Given the description of an element on the screen output the (x, y) to click on. 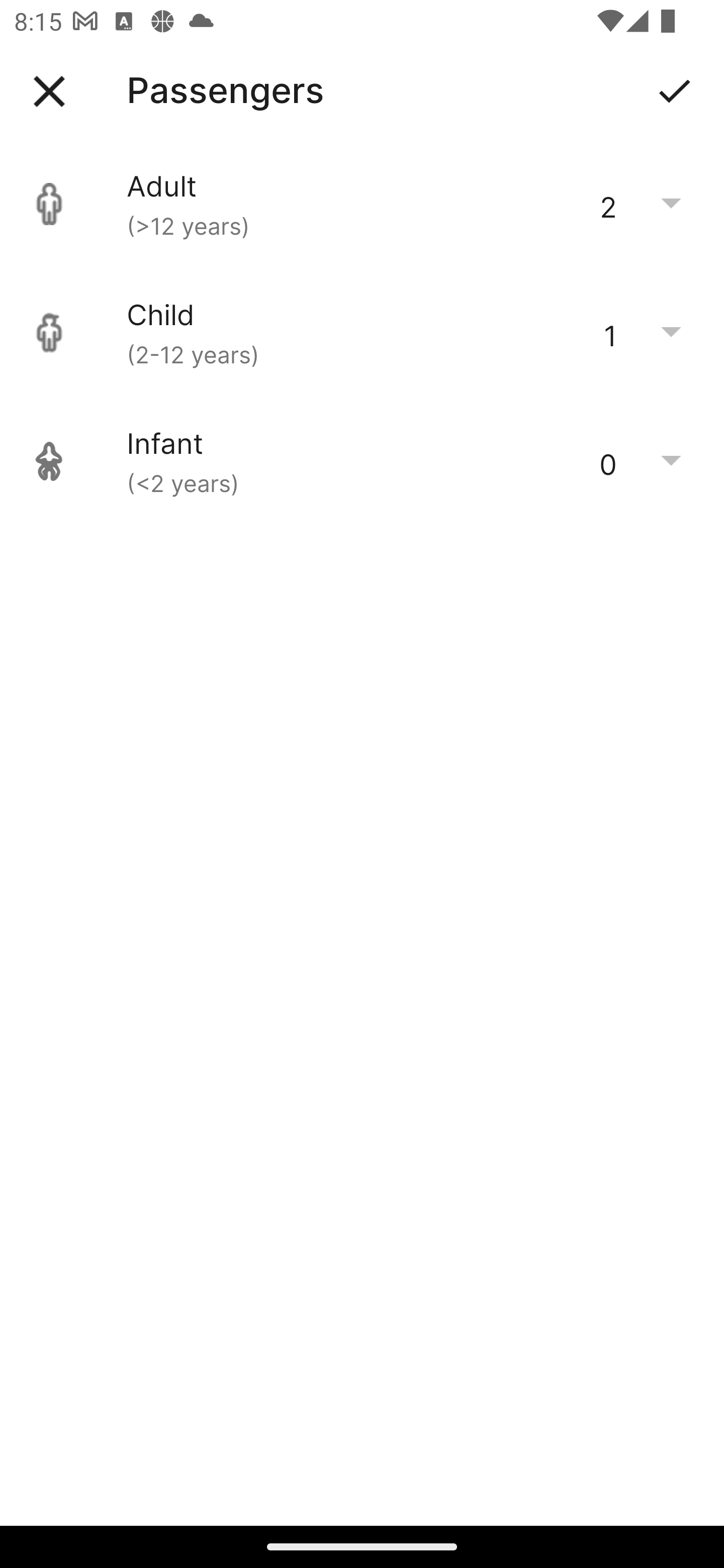
Adult (>12 years) 2 (362, 204)
Child (2-12 years) 1 (362, 332)
Infant (<2 years) 0 (362, 461)
